Given the description of an element on the screen output the (x, y) to click on. 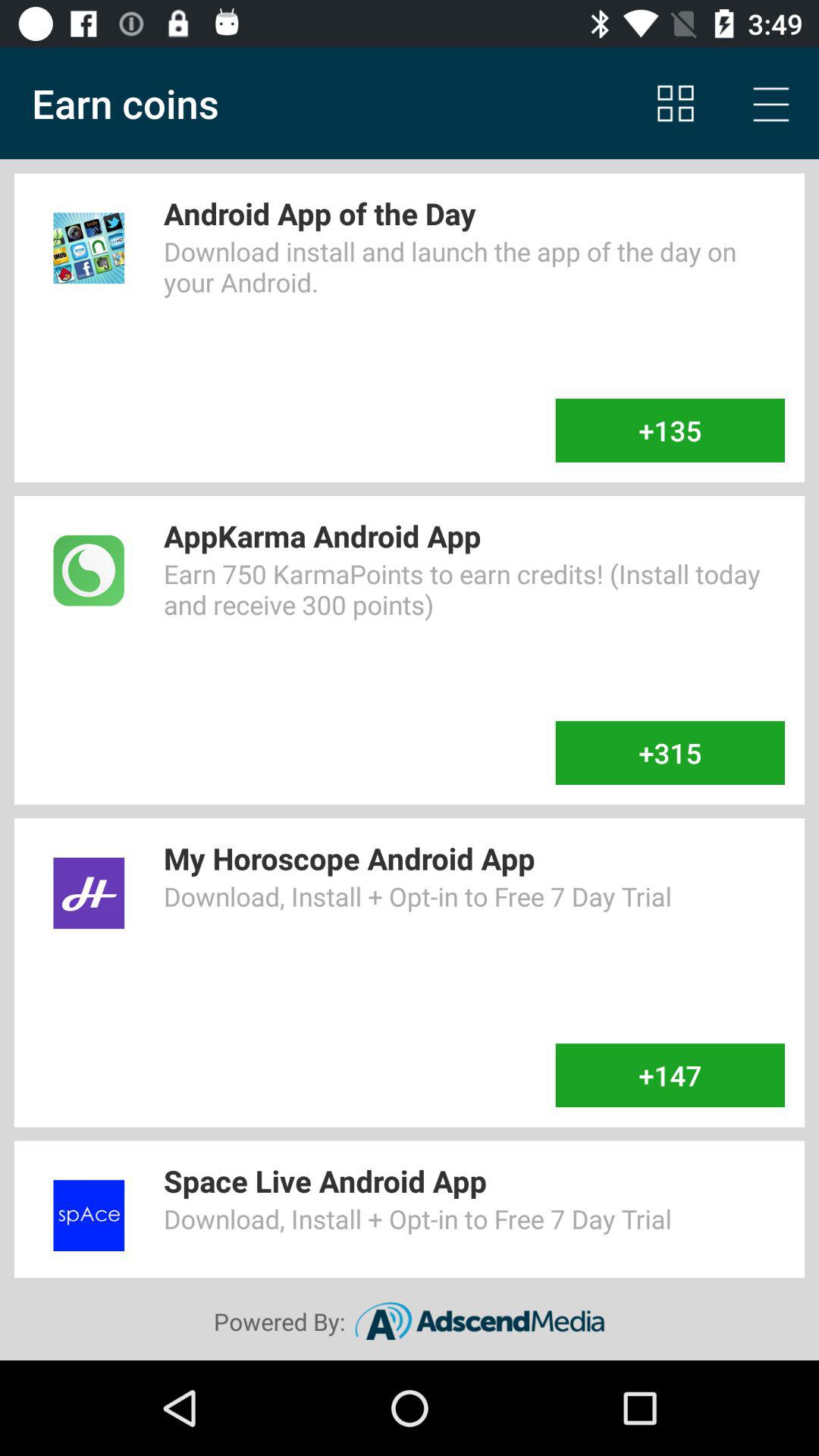
press icon above space live android icon (669, 1075)
